Given the description of an element on the screen output the (x, y) to click on. 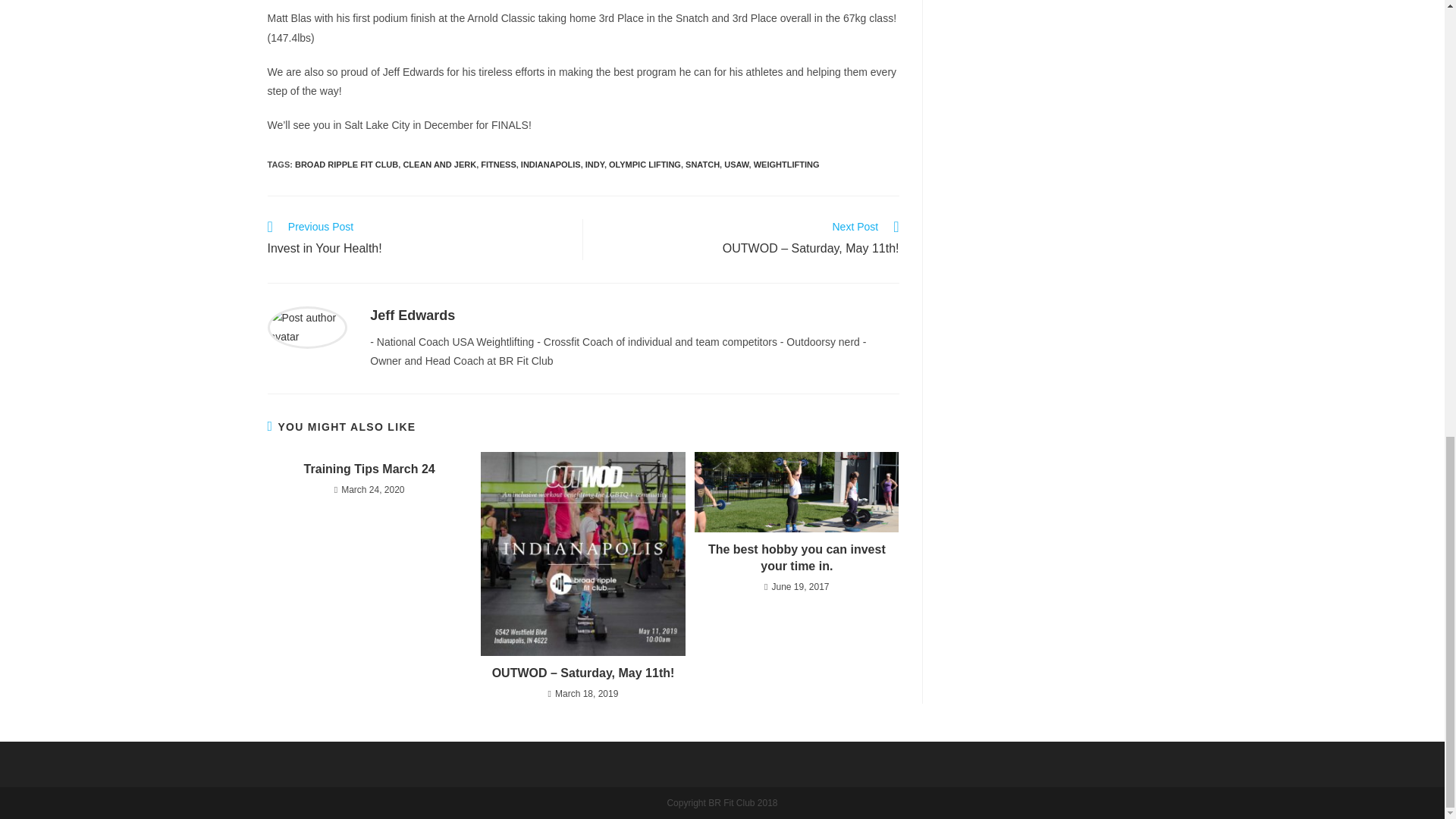
SNATCH (702, 163)
FITNESS (497, 163)
CLEAN AND JERK (439, 163)
Jeff Edwards (411, 314)
Visit author page (306, 326)
OLYMPIC LIFTING (644, 163)
INDIANAPOLIS (550, 163)
USAW (735, 163)
WEIGHTLIFTING (786, 163)
Training Tips March 24 (368, 469)
